Given the description of an element on the screen output the (x, y) to click on. 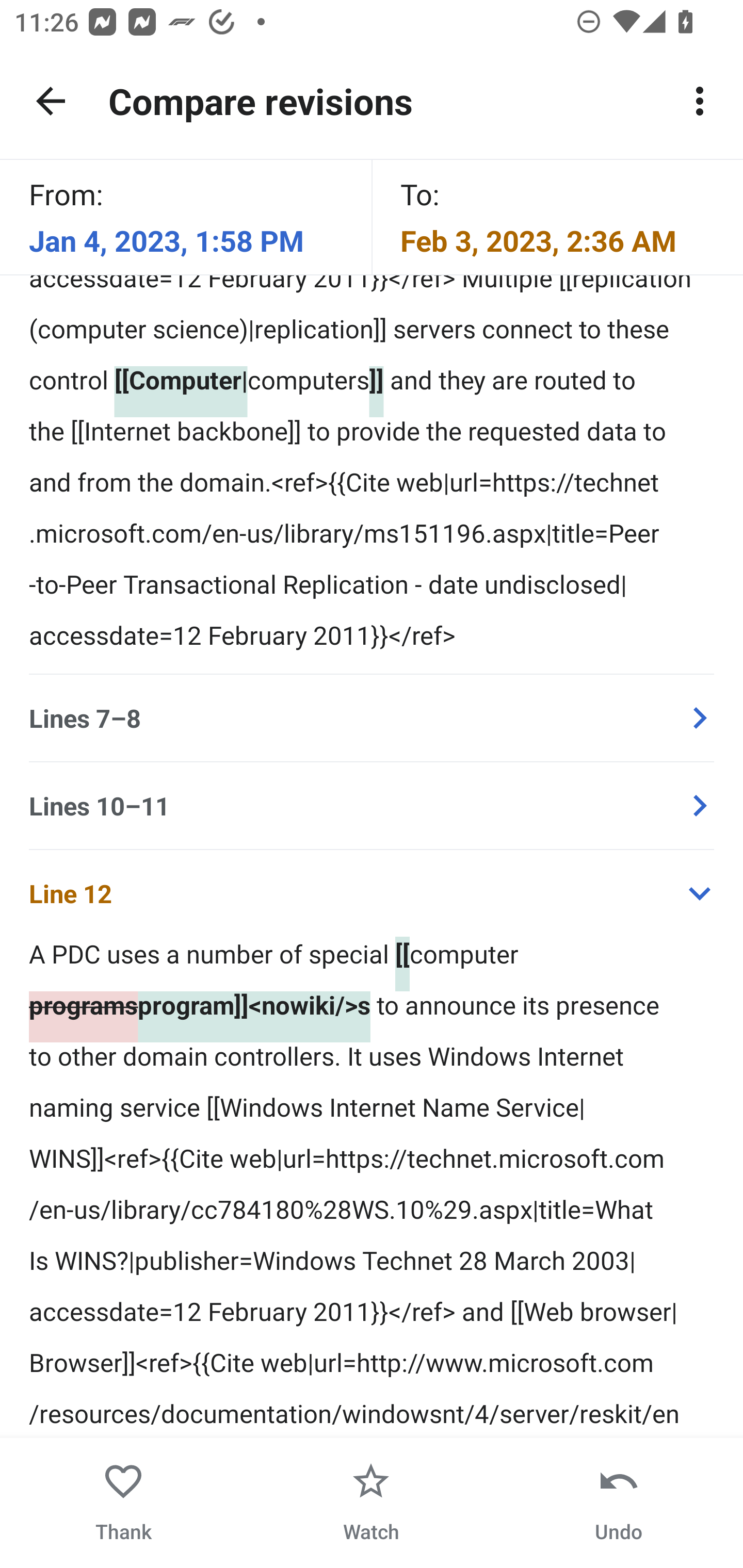
Navigate up (50, 101)
More options (699, 101)
Lines 7–8 (371, 718)
Lines 10–11 (371, 805)
Line 12 (371, 892)
Thank (123, 1502)
Watch (370, 1502)
Undo (618, 1502)
